Given the description of an element on the screen output the (x, y) to click on. 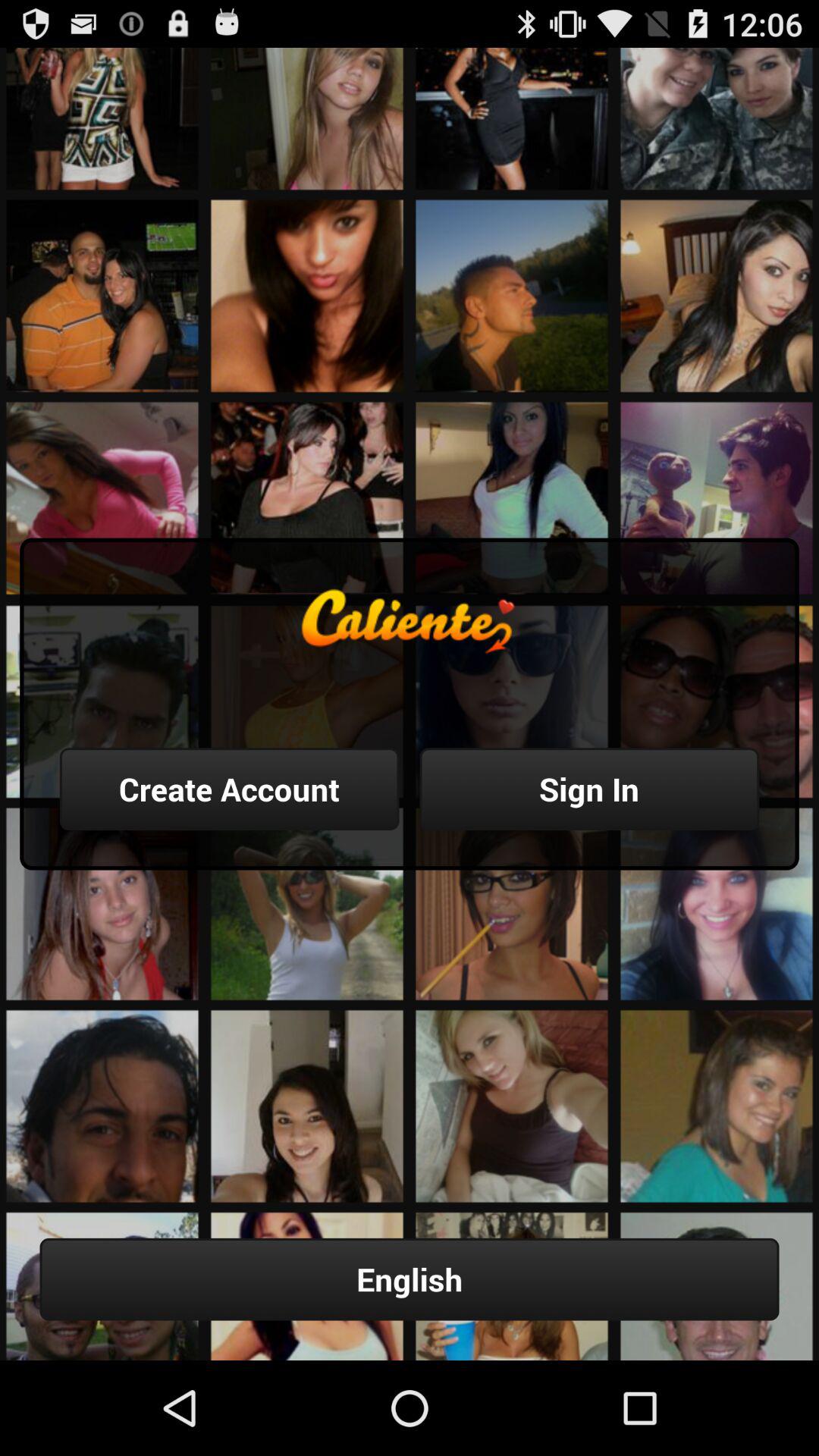
turn off button to the right of the create account item (589, 788)
